Given the description of an element on the screen output the (x, y) to click on. 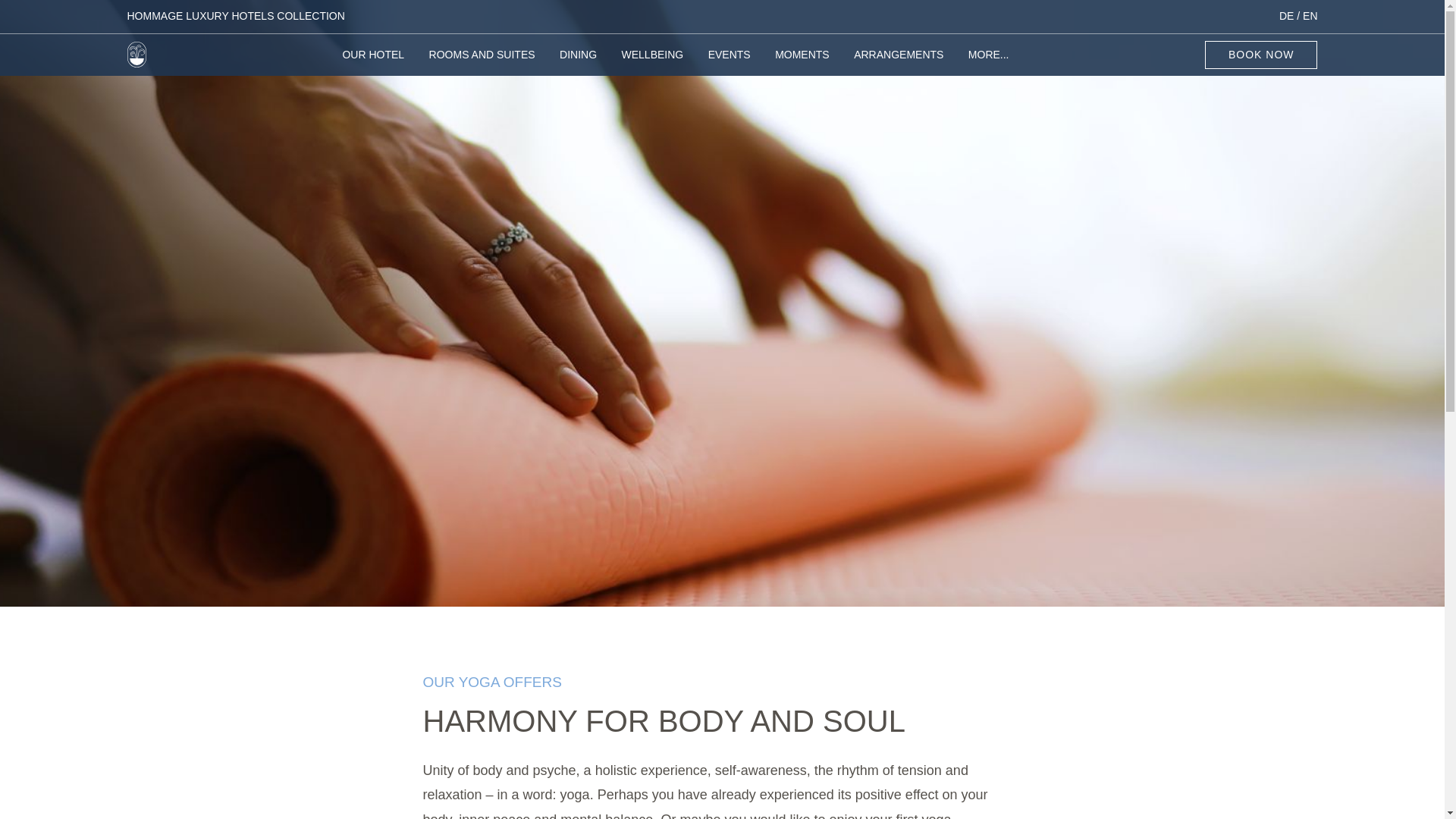
MOMENTS (801, 62)
EN (1310, 15)
WELLBEING (652, 62)
MORE... (988, 62)
OUR HOTEL (373, 62)
ROOMS AND SUITES (482, 62)
ARRANGEMENTS (898, 62)
BOOK NOW (1261, 54)
DINING (577, 62)
EVENTS (729, 62)
